Given the description of an element on the screen output the (x, y) to click on. 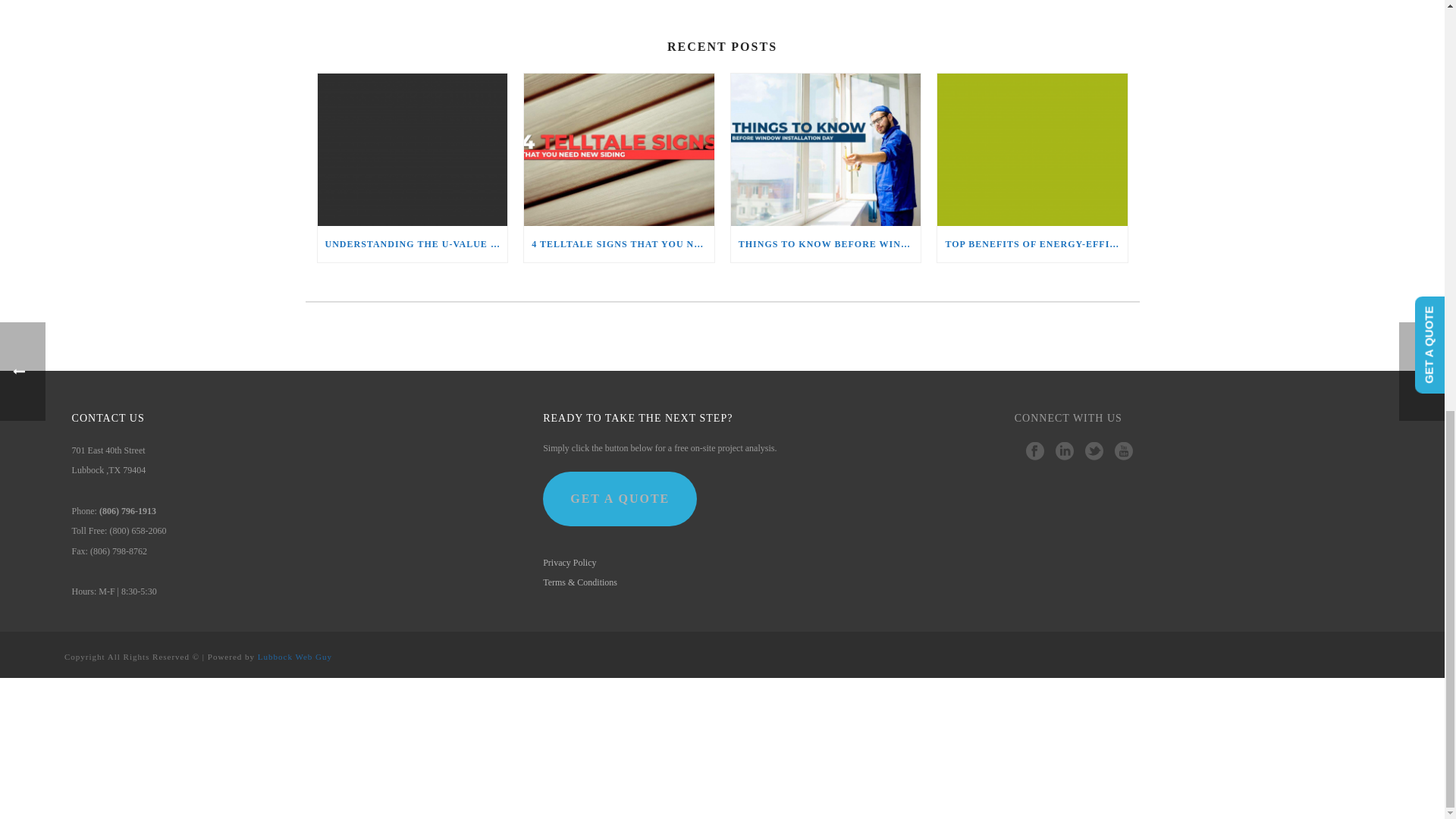
Understanding the U-Value of a Window Assembly (411, 149)
TOP BENEFITS OF ENERGY-EFFICIENT REPLACEMENT WINDOWS (1031, 244)
Follow Us on twitter (1093, 451)
Top Benefits of Energy-Efficient Replacement Windows (1031, 149)
THINGS TO KNOW BEFORE WINDOW INSTALLATION DAY (825, 244)
Follow Us on facebook (1034, 451)
Things to Know Before Window Installation Day (825, 149)
4 Telltale Signs That You Need New Siding (619, 149)
Lubbock Web Guy (294, 655)
Privacy Policy (569, 562)
4 TELLTALE SIGNS THAT YOU NEED NEW SIDING (619, 244)
GET A QUOTE (620, 498)
Follow Us on linkedin (1064, 451)
CONNECT WITH US (1068, 424)
UNDERSTANDING THE U-VALUE OF A WINDOW ASSEMBLY (411, 244)
